Given the description of an element on the screen output the (x, y) to click on. 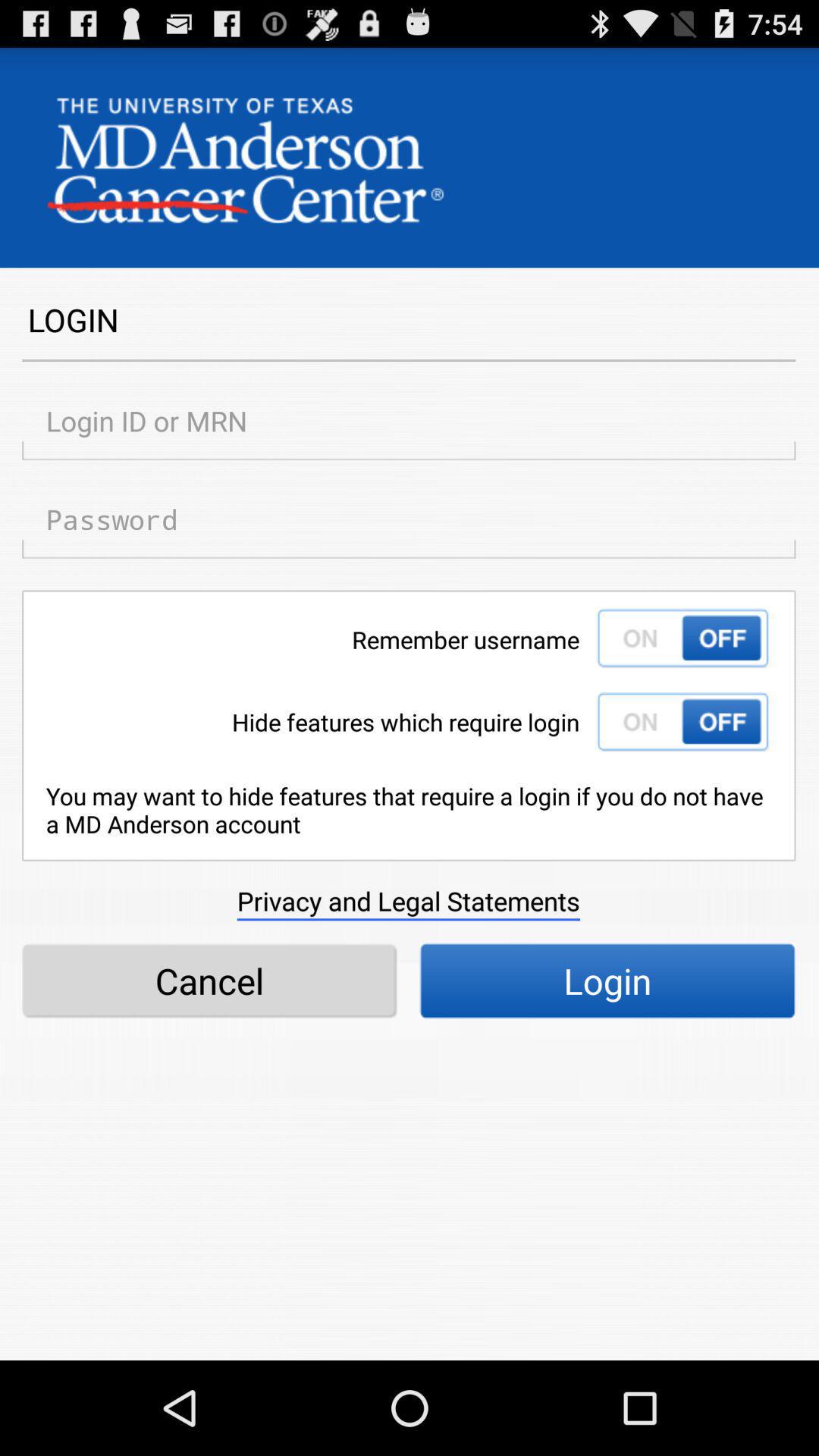
launch the icon below you may want item (408, 900)
